Given the description of an element on the screen output the (x, y) to click on. 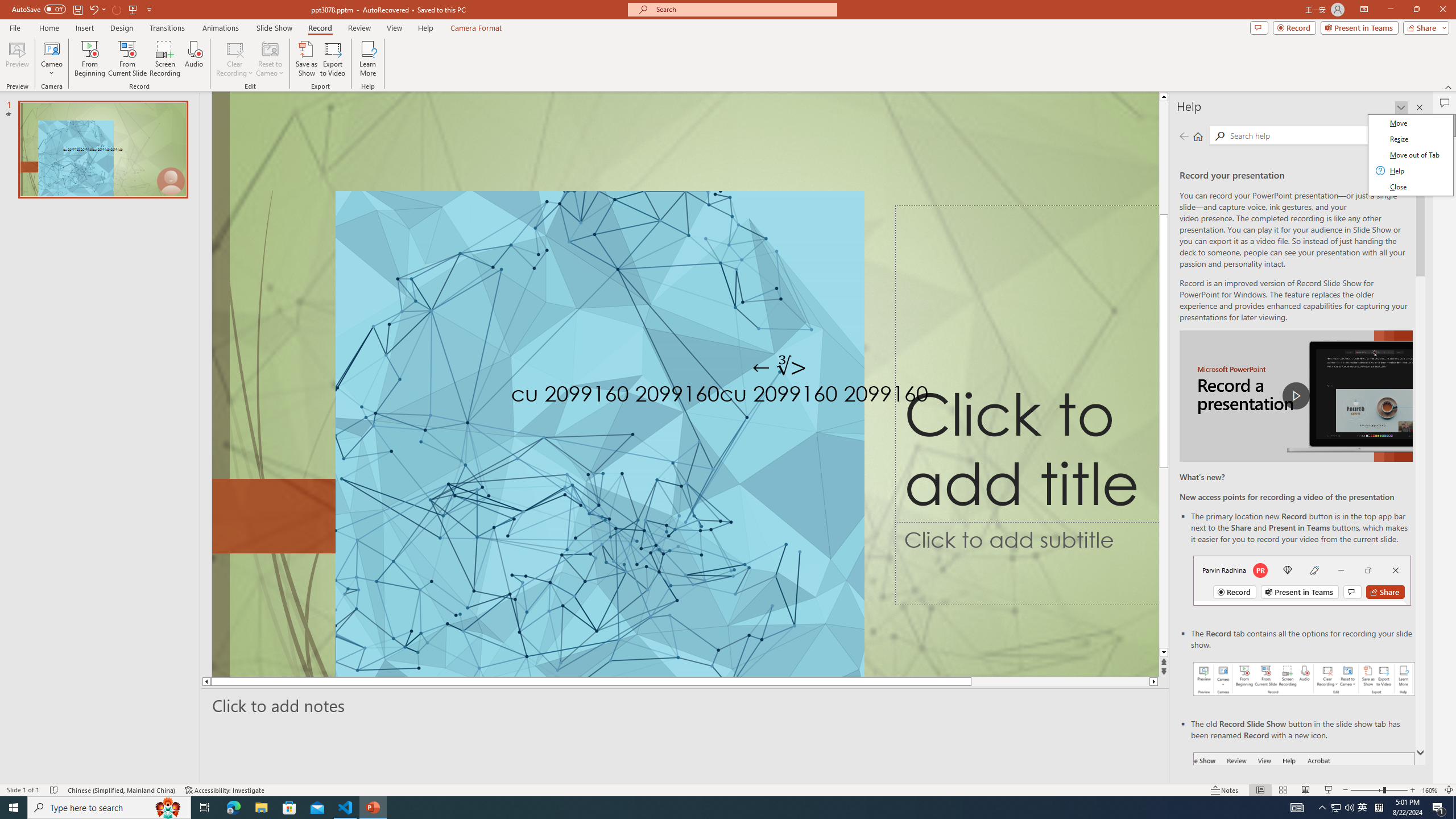
Camera Format (475, 28)
play Record a Presentation (1296, 395)
